Given the description of an element on the screen output the (x, y) to click on. 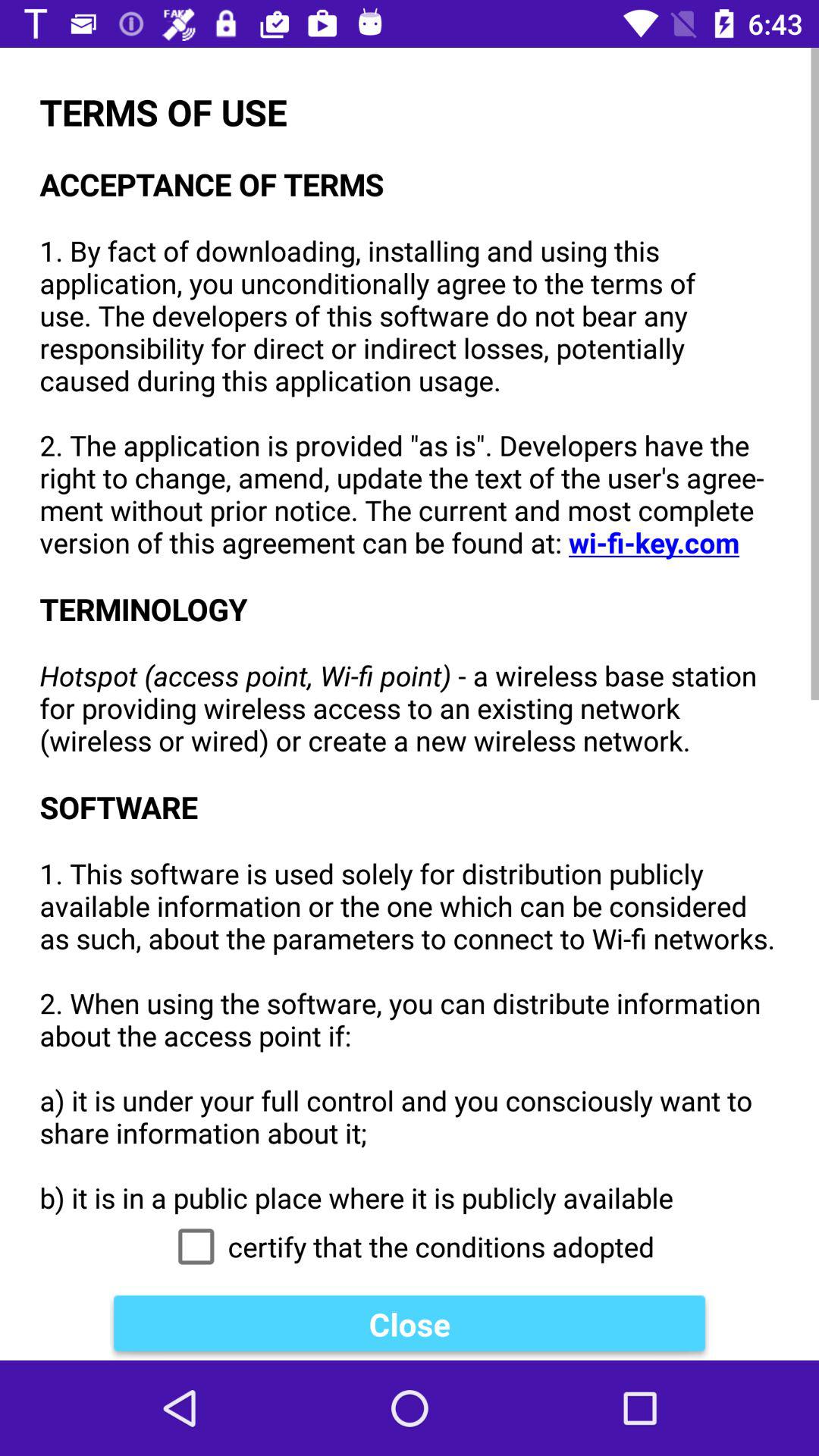
scroll until certify that the icon (409, 1246)
